Given the description of an element on the screen output the (x, y) to click on. 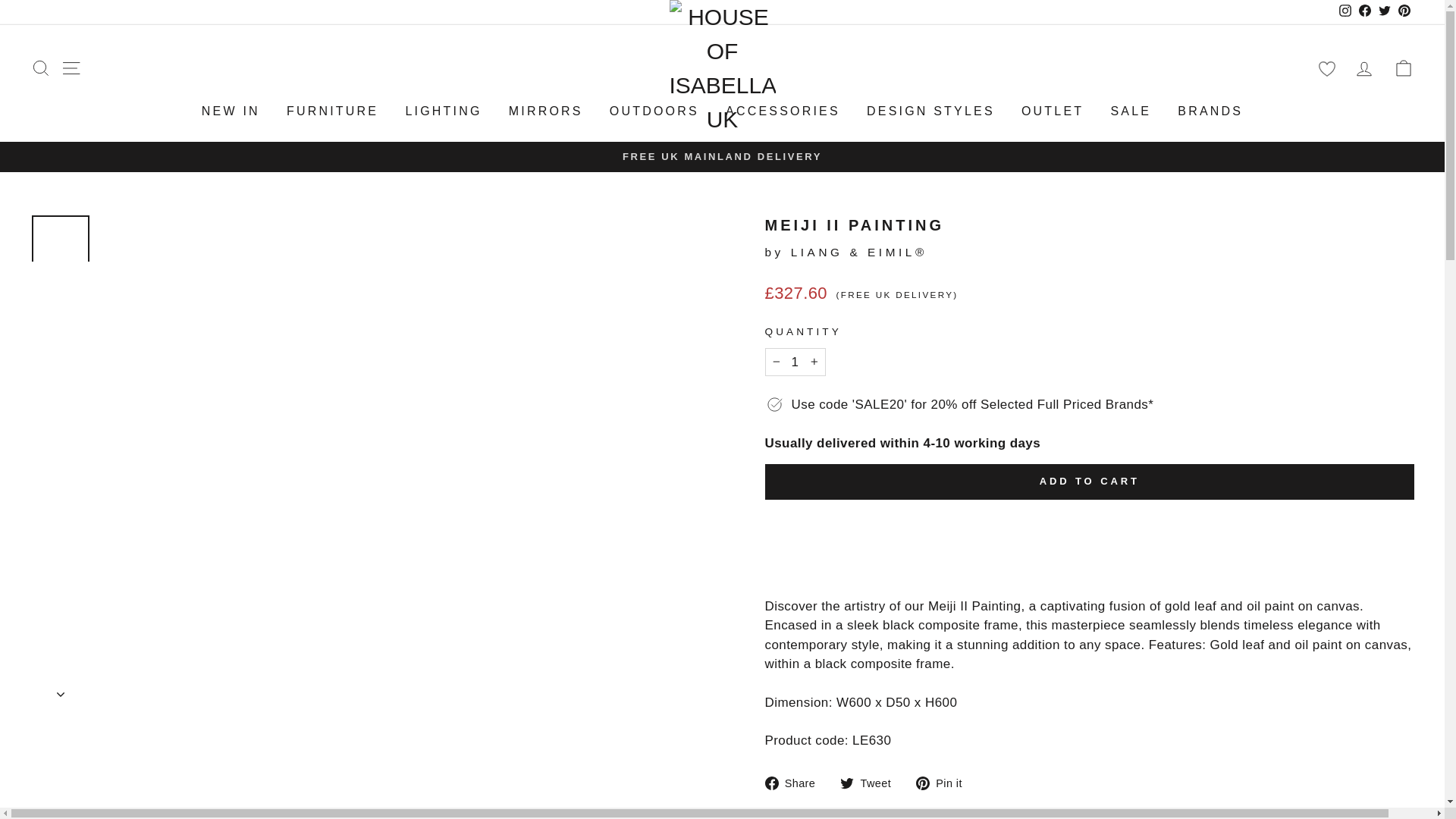
Pin on Pinterest (944, 783)
Share on Facebook (795, 783)
1 (794, 362)
wishlist (1325, 68)
Tweet on Twitter (871, 783)
